Given the description of an element on the screen output the (x, y) to click on. 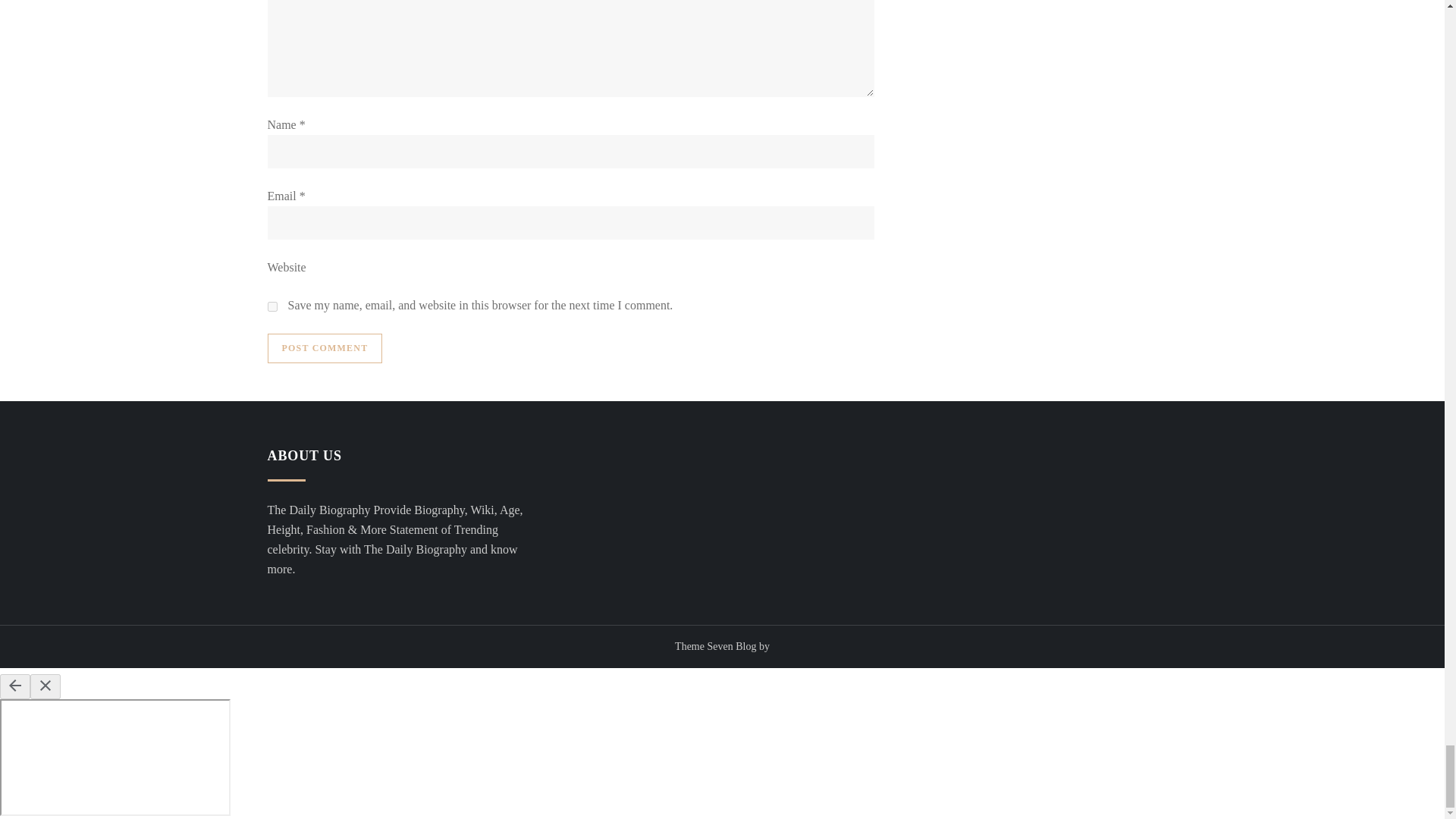
Post Comment (323, 348)
yes (271, 307)
